Given the description of an element on the screen output the (x, y) to click on. 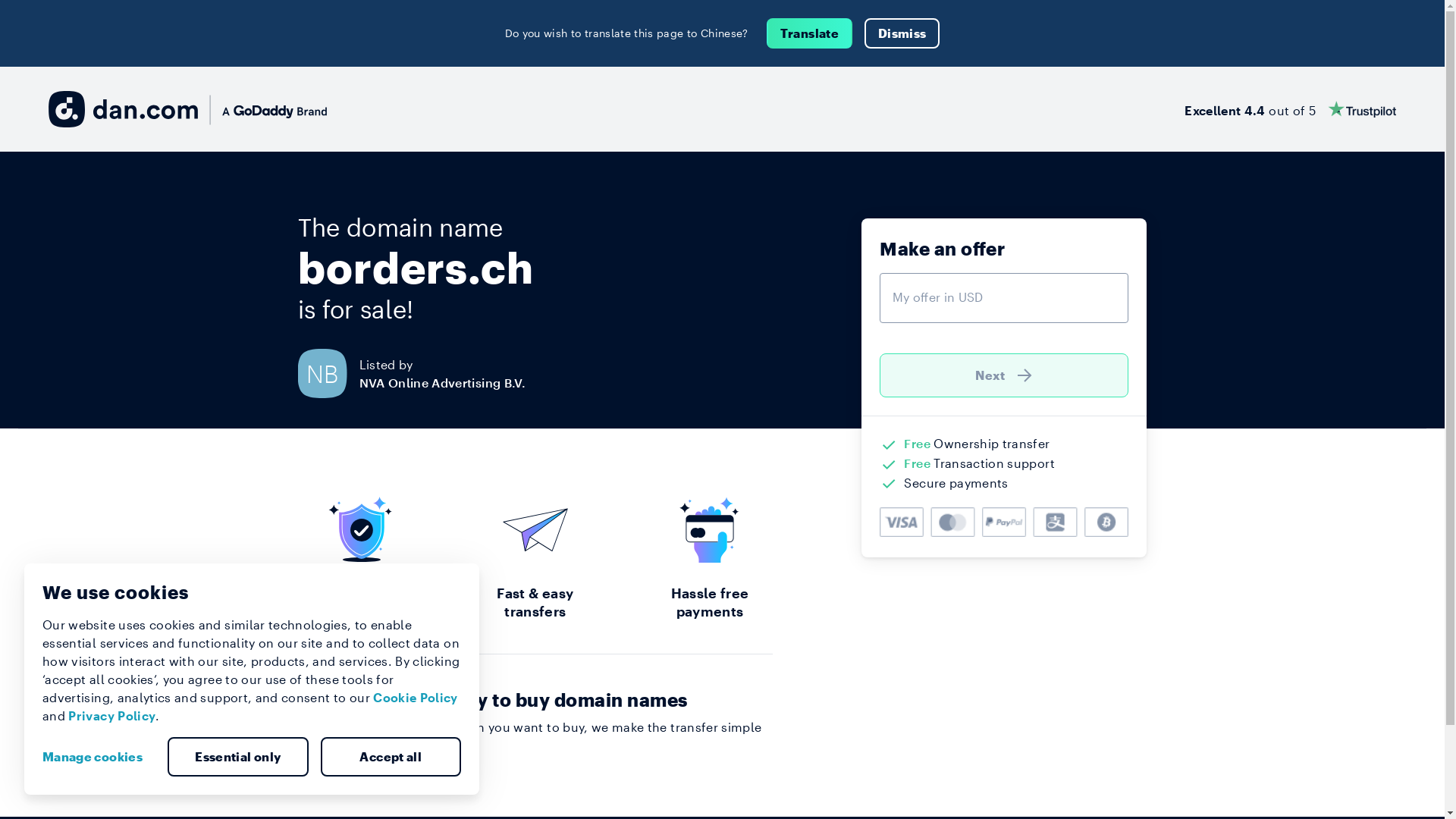
Accept all Element type: text (390, 756)
Privacy Policy Element type: text (111, 715)
Excellent 4.4 out of 5 Element type: text (1290, 109)
Manage cookies Element type: text (98, 756)
Translate Element type: text (809, 33)
Cookie Policy Element type: text (415, 697)
Dismiss Element type: text (901, 33)
Essential only Element type: text (237, 756)
Next
) Element type: text (1003, 375)
